Given the description of an element on the screen output the (x, y) to click on. 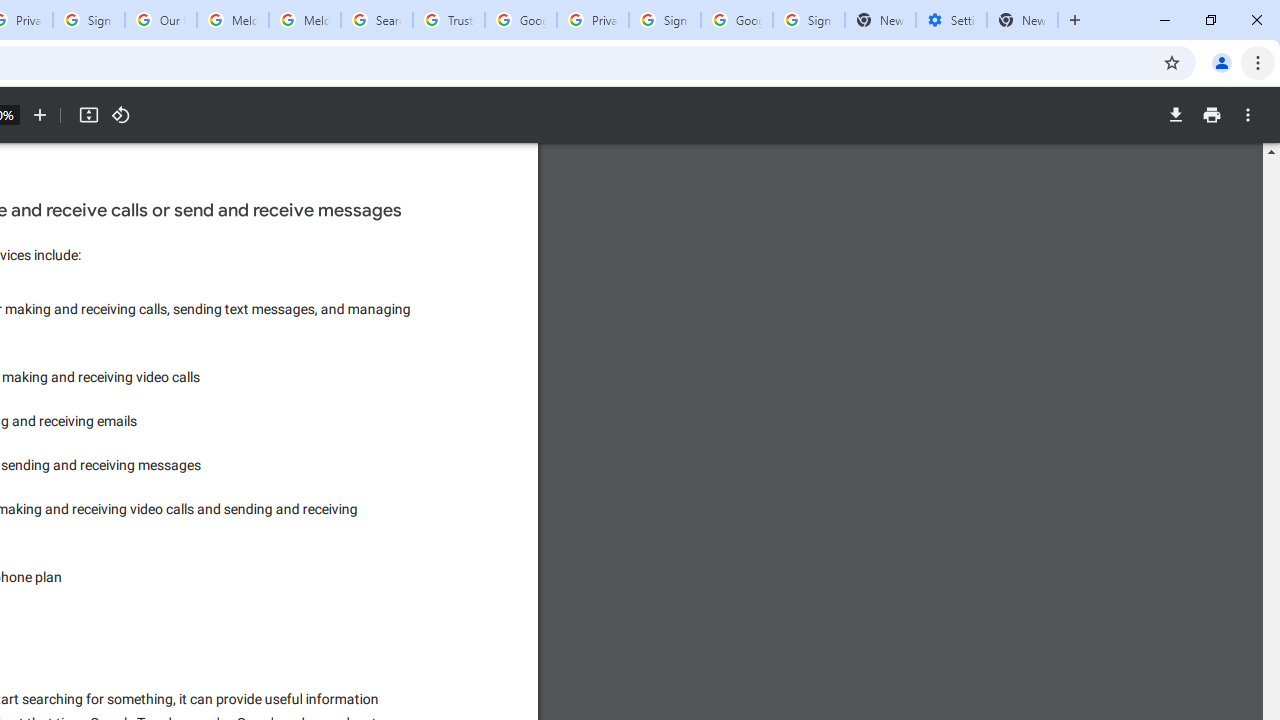
Settings - Addresses and more (951, 20)
More actions (1247, 115)
Fit to page (87, 115)
Sign in - Google Accounts (664, 20)
Sign in - Google Accounts (88, 20)
Print (1211, 115)
Rotate counterclockwise (119, 115)
Download (1175, 115)
Google Cybersecurity Innovations - Google Safety Center (737, 20)
Zoom in (39, 115)
